Given the description of an element on the screen output the (x, y) to click on. 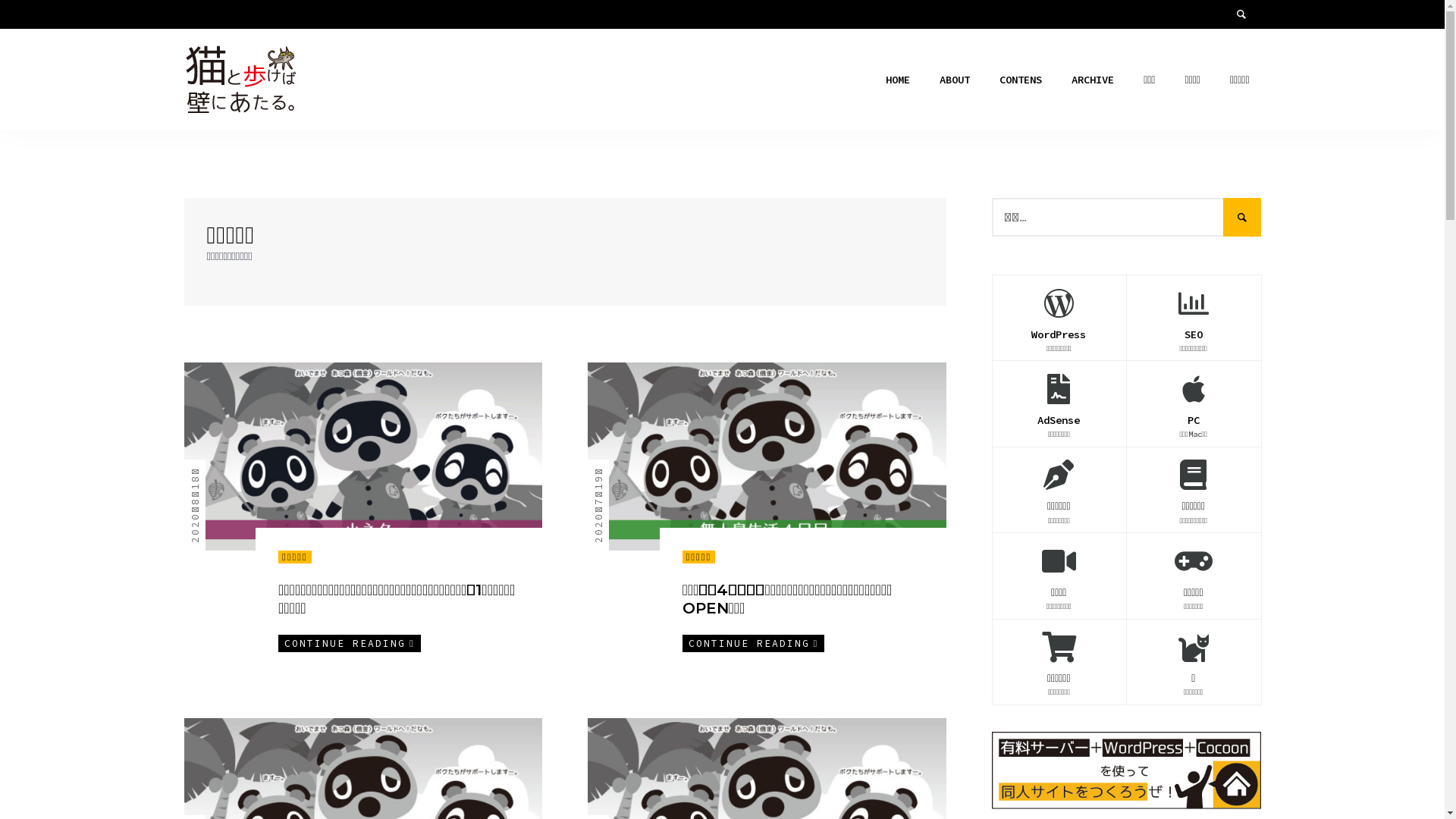
ABOUT Element type: text (954, 78)
CONTENS Element type: text (1020, 78)
ARCHIVE Element type: text (1092, 78)
HOME Element type: text (897, 78)
CONTINUE READING Element type: text (753, 643)
CONTINUE READING Element type: text (349, 643)
